Given the description of an element on the screen output the (x, y) to click on. 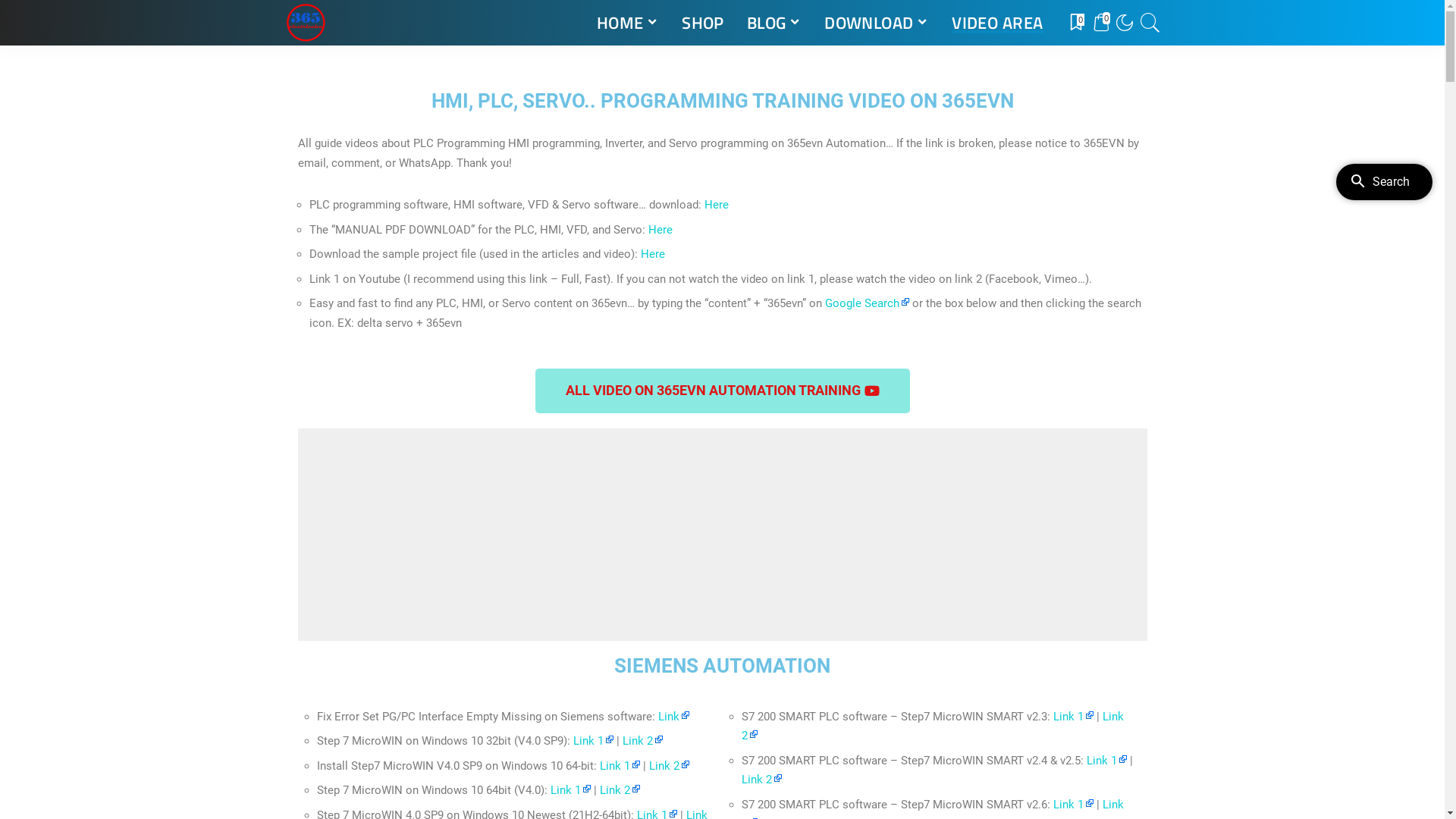
DOWNLOAD Element type: text (876, 22)
Link 1 Element type: text (1072, 716)
Link 2 Element type: text (619, 790)
VIDEO AREA Element type: text (997, 22)
0 Element type: text (1075, 22)
Search Element type: text (1140, 65)
Link 2 Element type: text (761, 779)
HOME Element type: text (627, 22)
BLOG Element type: text (773, 22)
0 Element type: text (1100, 22)
SHOP Element type: text (702, 22)
Google Search Element type: text (867, 303)
Advertisement Element type: hover (721, 534)
Link 1 Element type: text (570, 790)
Here  Element type: text (660, 229)
Here Element type: text (715, 204)
ALL VIDEO ON 365EVN AUTOMATION TRAINING Element type: text (722, 390)
Link 1 Element type: text (1072, 804)
PLC Programming By 365EVN Element type: hover (304, 22)
Link 2 Element type: text (641, 740)
Link 2 Element type: text (669, 764)
Link 1 Element type: text (619, 764)
Link 1 Element type: text (593, 740)
Link 1 Element type: text (1105, 760)
Link 2 Element type: text (932, 726)
Link Element type: text (673, 716)
Here Element type: text (652, 253)
